Given the description of an element on the screen output the (x, y) to click on. 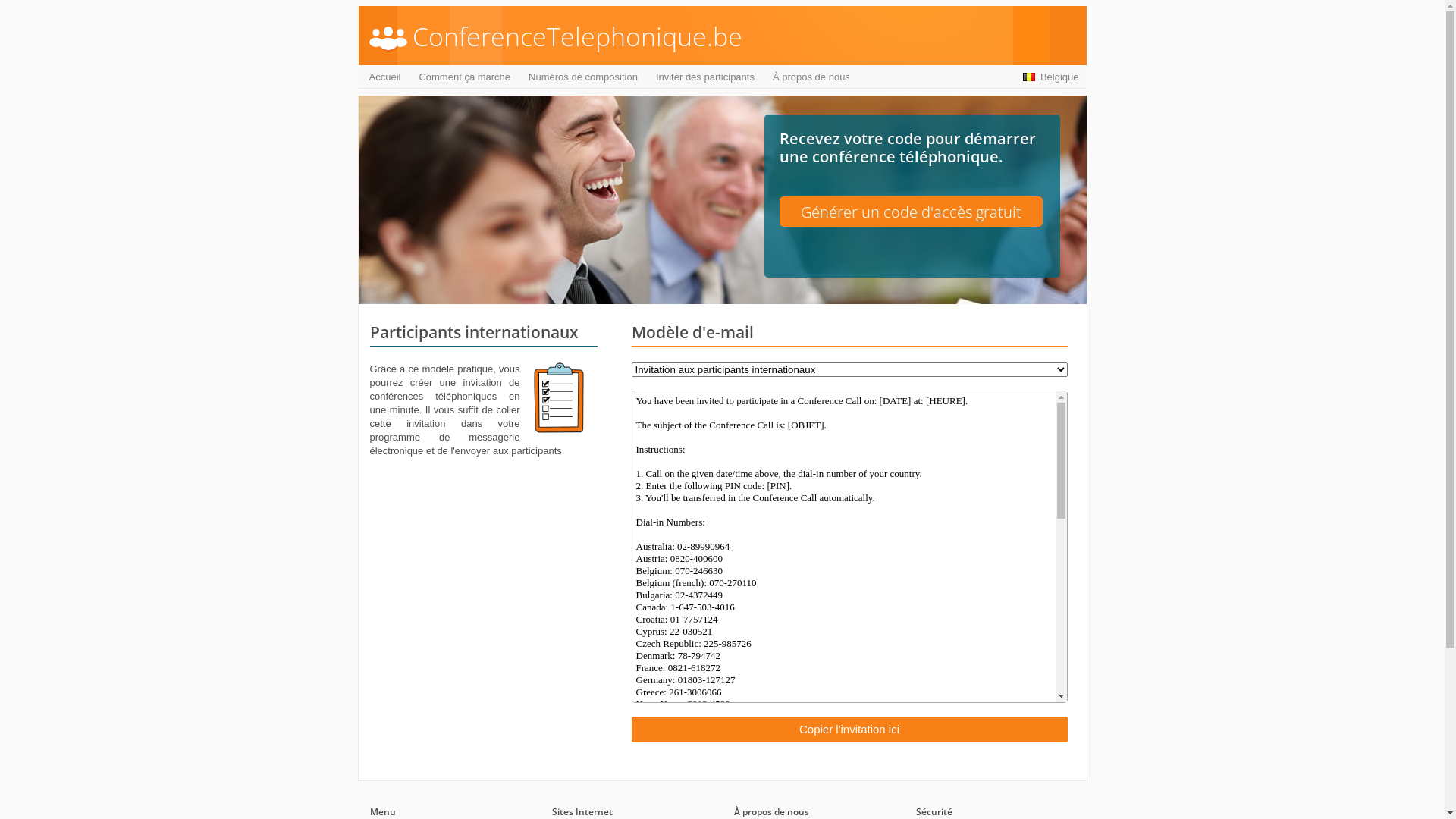
Copier l'invitation ici Element type: text (848, 729)
Accueil Element type: text (383, 77)
Inviter des participants Element type: text (705, 77)
